Given the description of an element on the screen output the (x, y) to click on. 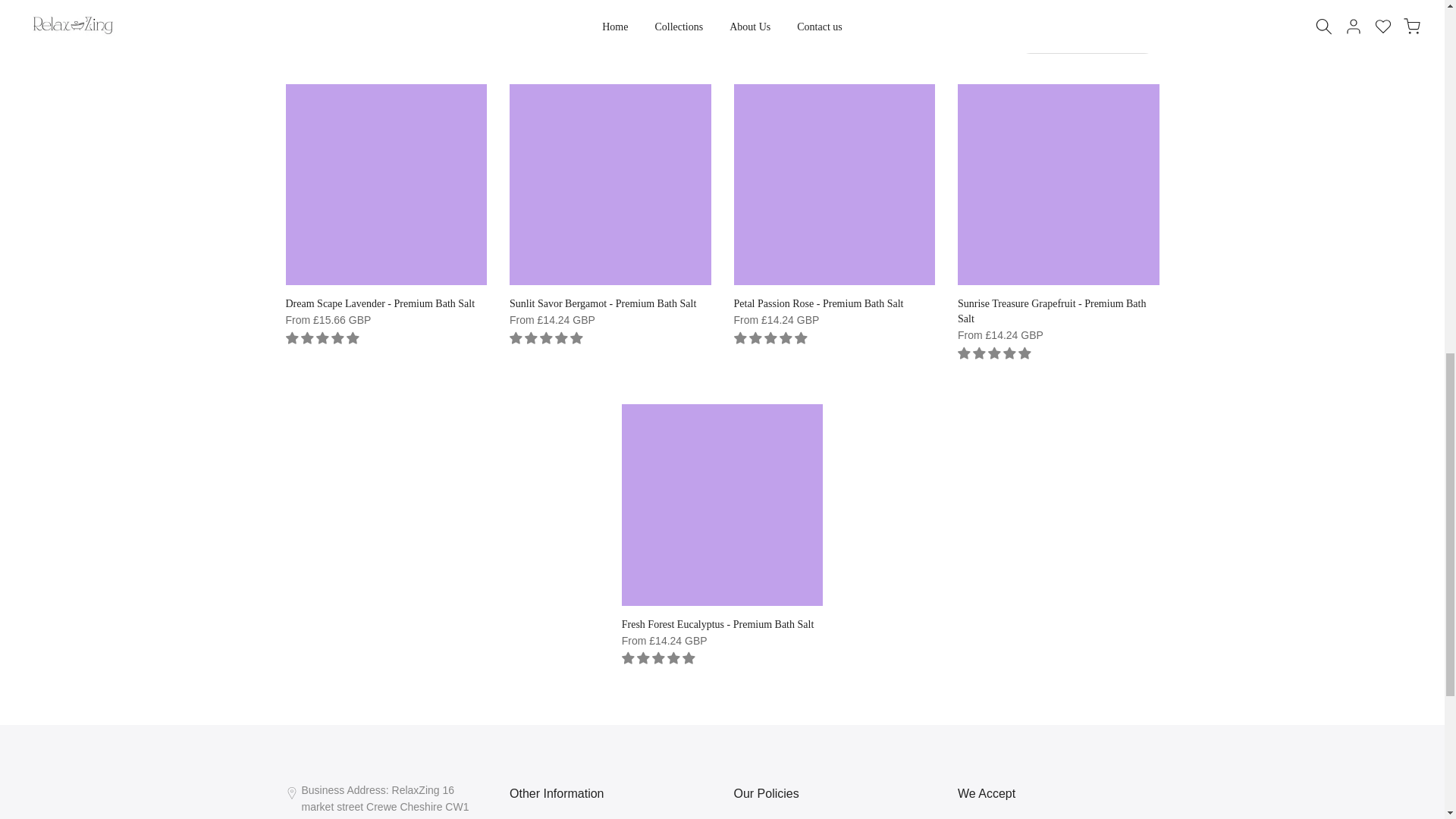
Best selling (1086, 38)
Filter (304, 37)
